Given the description of an element on the screen output the (x, y) to click on. 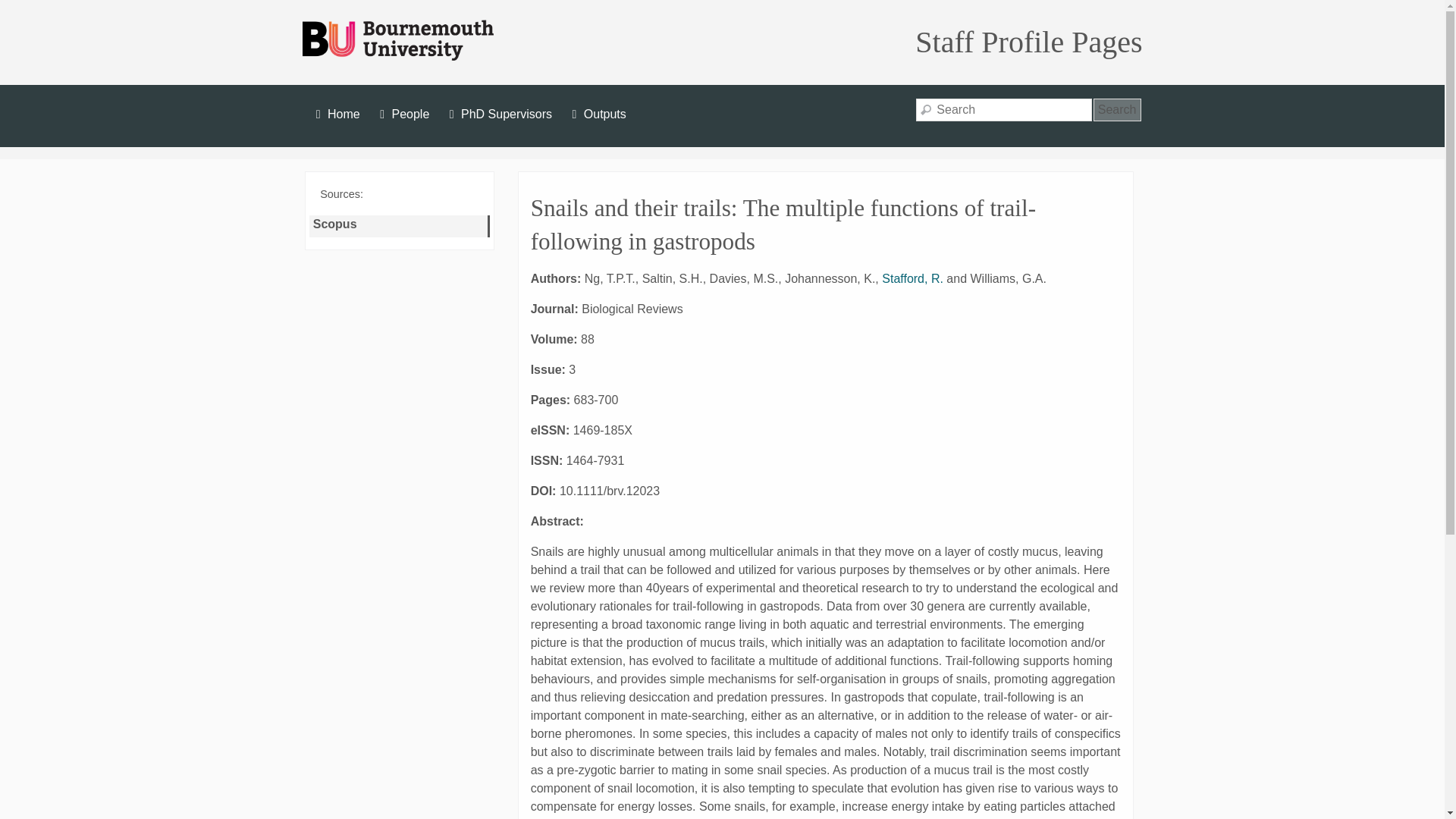
Home (334, 114)
Bournemouth University (397, 40)
People (402, 114)
Staff Profile Pages (1028, 41)
Search (1117, 109)
Scopus (336, 226)
Stafford, R. (912, 278)
PhD Supervisors (498, 114)
Search (1117, 109)
Outputs (597, 114)
